Given the description of an element on the screen output the (x, y) to click on. 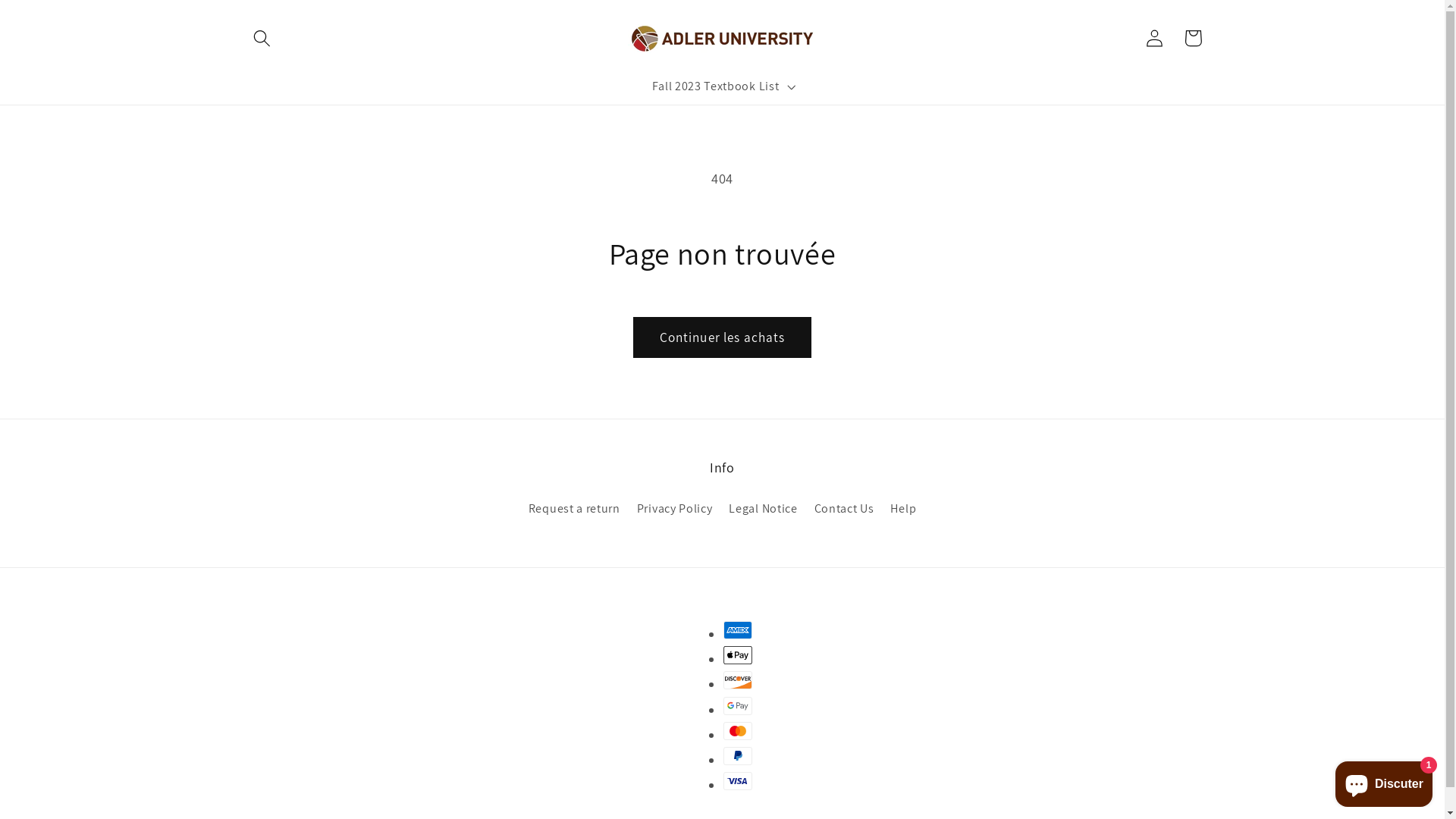
Chat de la boutique en ligne Shopify Element type: hover (1383, 780)
Panier Element type: text (1192, 37)
Continuer les achats Element type: text (722, 336)
Legal Notice Element type: text (762, 509)
Request a return Element type: text (574, 510)
Contact Us Element type: text (844, 509)
Help Element type: text (903, 509)
Privacy Policy Element type: text (674, 509)
Connexion Element type: text (1154, 37)
